Given the description of an element on the screen output the (x, y) to click on. 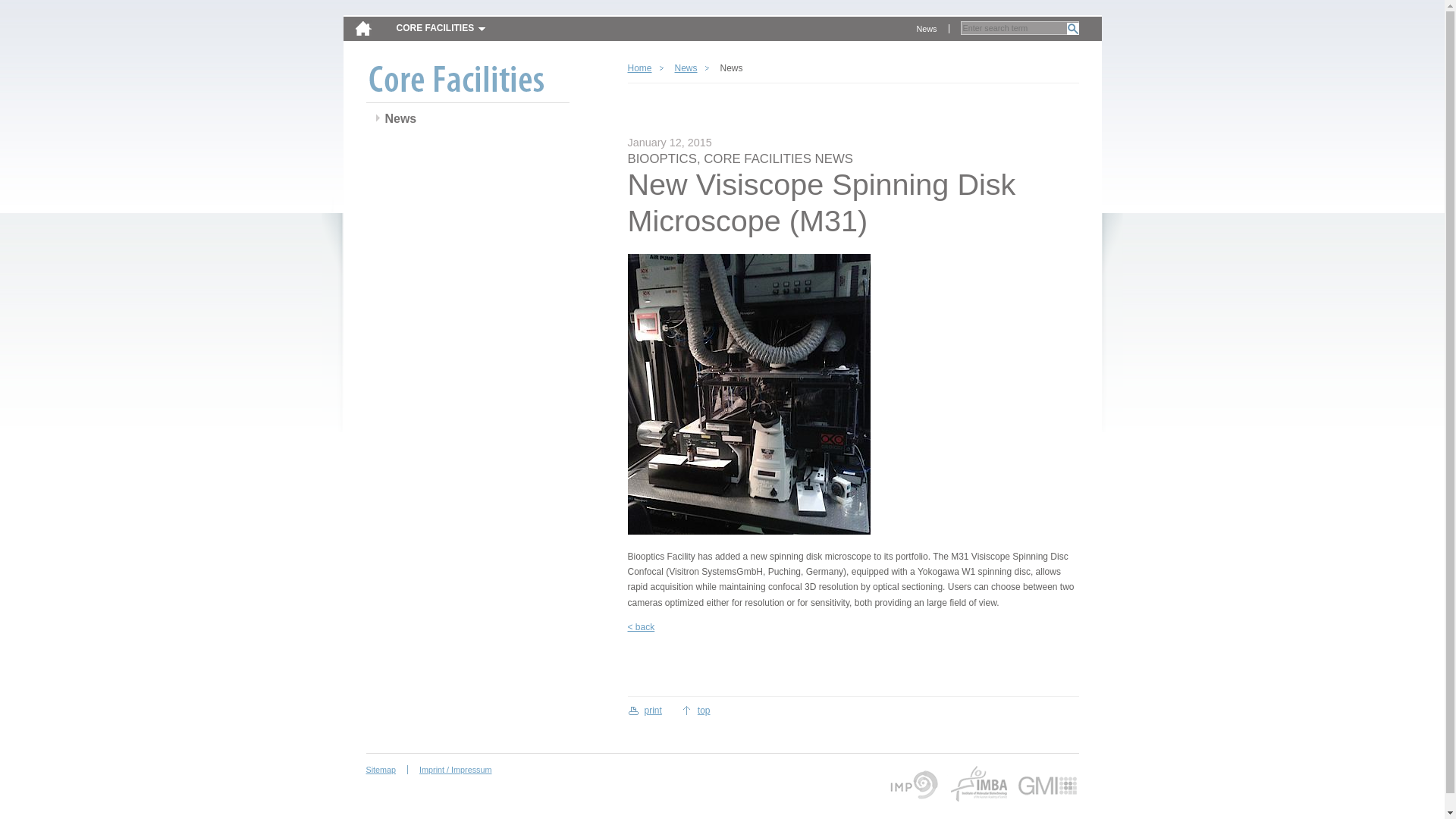
News (400, 119)
print (644, 709)
News (927, 28)
Search (1071, 28)
Sitemap (386, 768)
Search (1071, 28)
News (927, 28)
News (400, 119)
Search (1071, 28)
top (695, 709)
News (686, 67)
Home (645, 67)
